Given the description of an element on the screen output the (x, y) to click on. 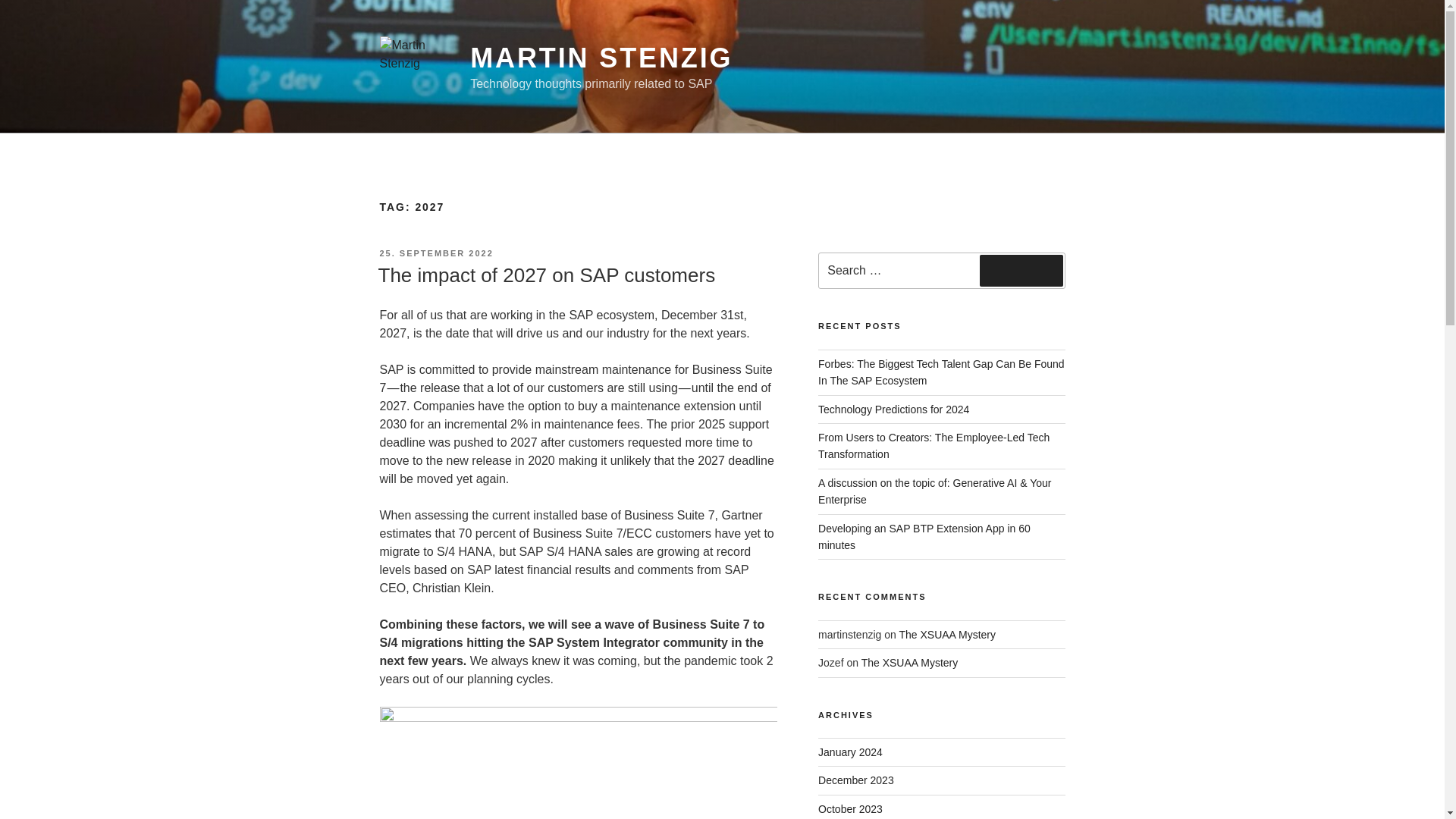
Search (1020, 270)
MARTIN STENZIG (601, 57)
The impact of 2027 on SAP customers (545, 274)
The XSUAA Mystery (946, 634)
Developing an SAP BTP Extension App in 60 minutes (924, 536)
From Users to Creators: The Employee-Led Tech Transformation (933, 445)
December 2023 (855, 779)
January 2024 (850, 752)
The XSUAA Mystery (909, 662)
October 2023 (850, 808)
Technology Predictions for 2024 (893, 409)
25. SEPTEMBER 2022 (435, 252)
